Given the description of an element on the screen output the (x, y) to click on. 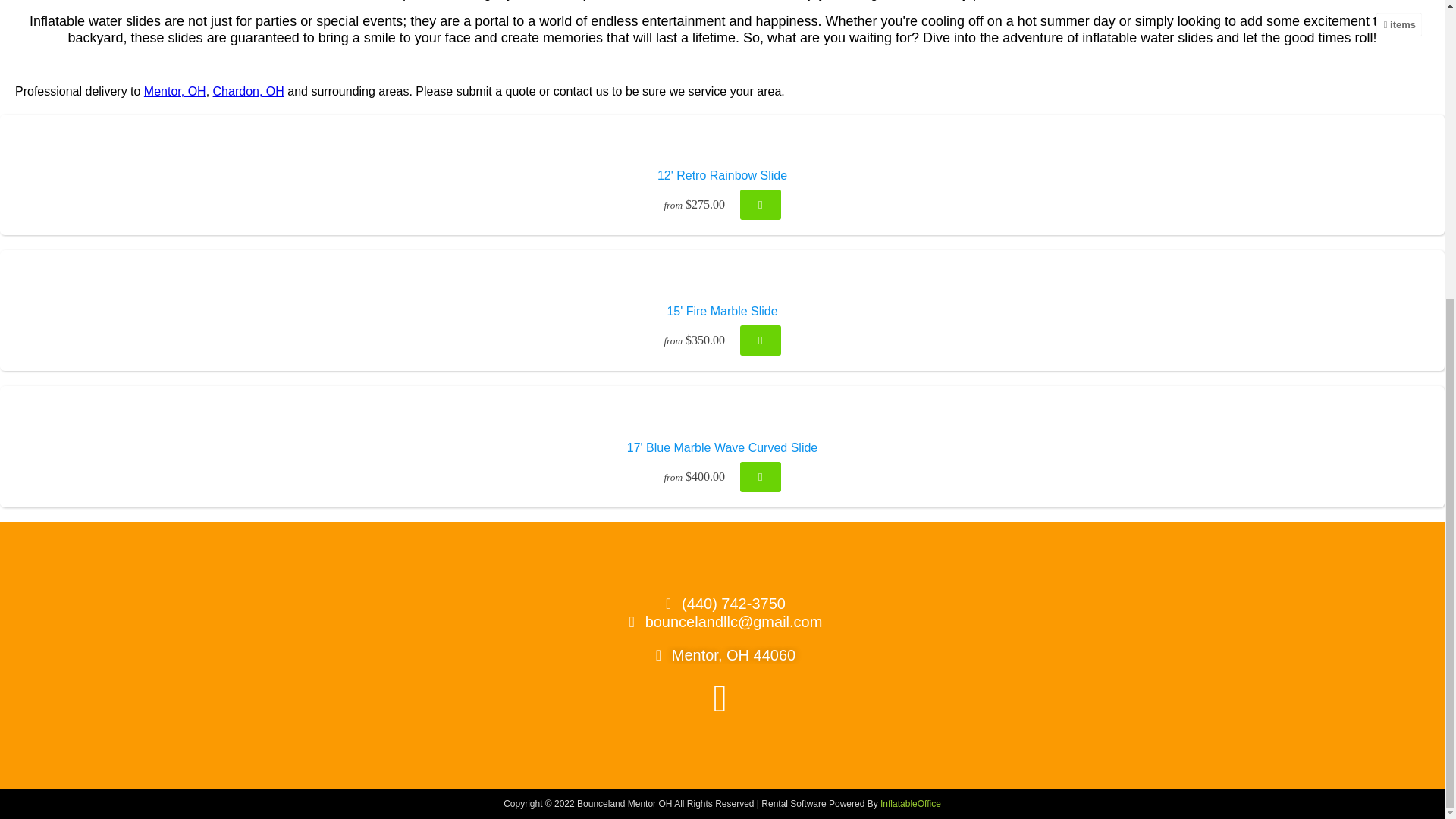
InflatableOffice (910, 803)
Chardon, OH (247, 91)
Mentor, OH (175, 91)
